Given the description of an element on the screen output the (x, y) to click on. 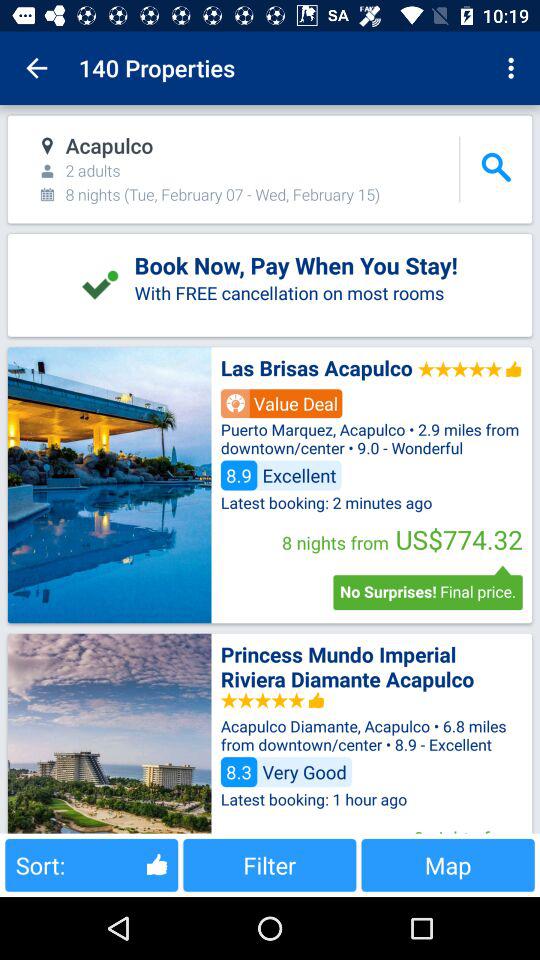
the property picture (109, 733)
